Given the description of an element on the screen output the (x, y) to click on. 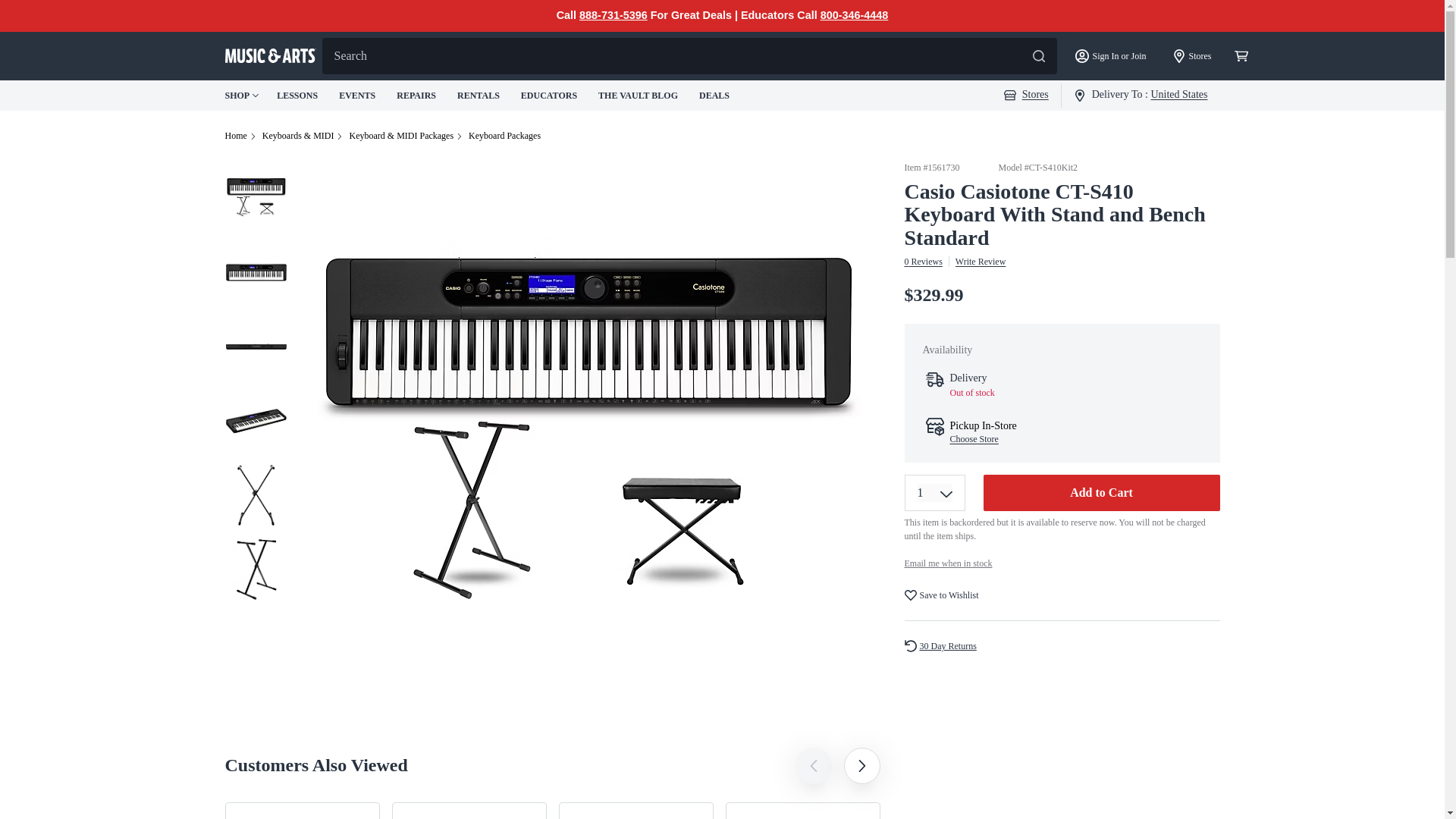
RENTALS (479, 94)
Home (235, 135)
Sign In or Join (1110, 55)
SHOP (241, 95)
DEALS (715, 94)
30 Day Returns (946, 645)
1 (934, 493)
Add to Cart (1101, 493)
EVENTS (358, 94)
REPAIRS (417, 94)
Email me when in stock (947, 562)
Stores (1191, 55)
LESSONS (298, 94)
THE VAULT BLOG (639, 94)
Delivery To : United States (1140, 94)
